Given the description of an element on the screen output the (x, y) to click on. 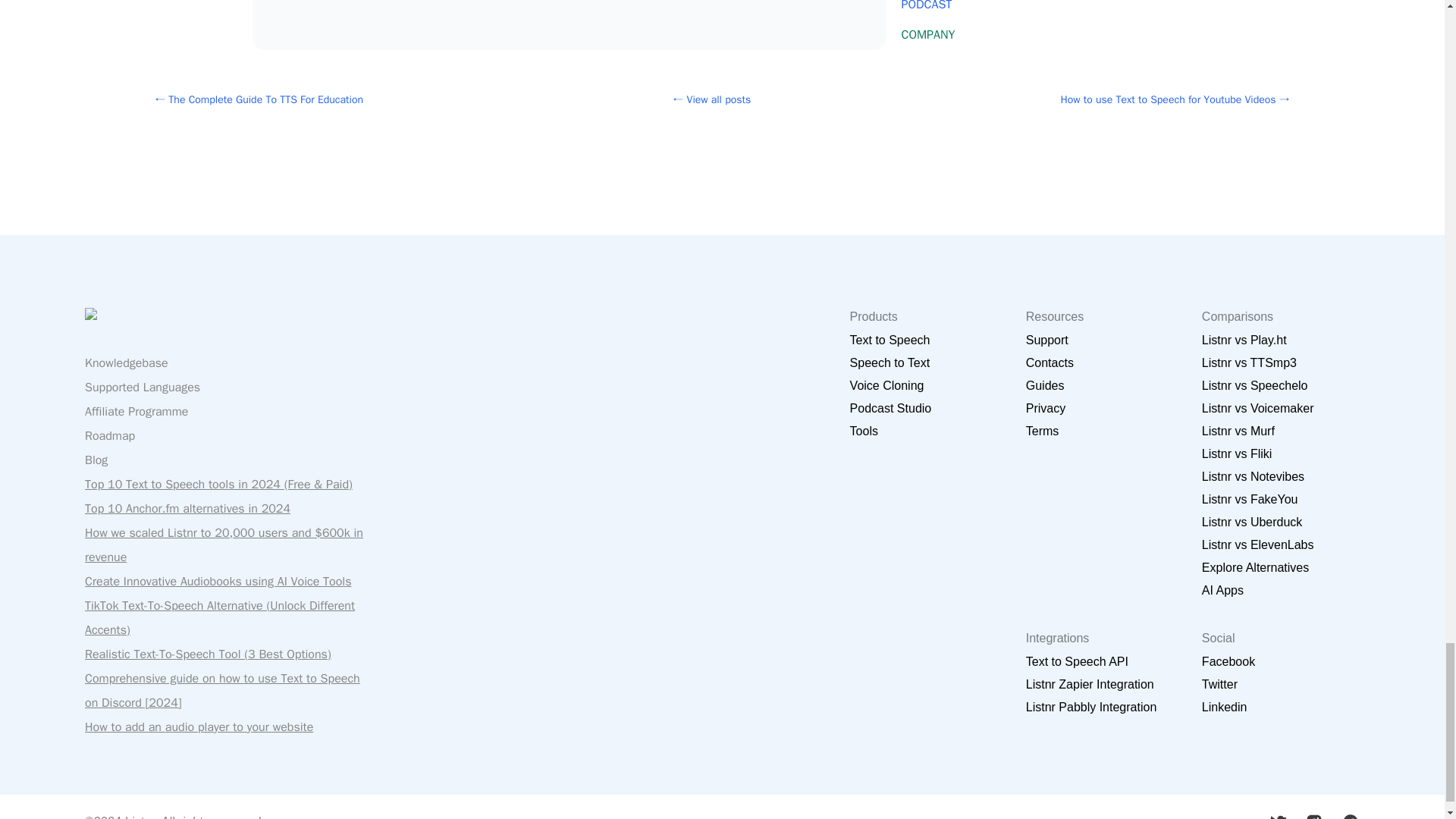
Top 10 Anchor.fm alternatives in 2024 (186, 507)
Text to Speech (890, 340)
Create Innovative Audiobooks using AI Voice Tools (218, 580)
Supported Languages (142, 386)
How to add an audio player to your website (198, 726)
Knowledgebase (126, 362)
Affiliate Programme (135, 410)
Blog (95, 459)
Roadmap (109, 435)
